Given the description of an element on the screen output the (x, y) to click on. 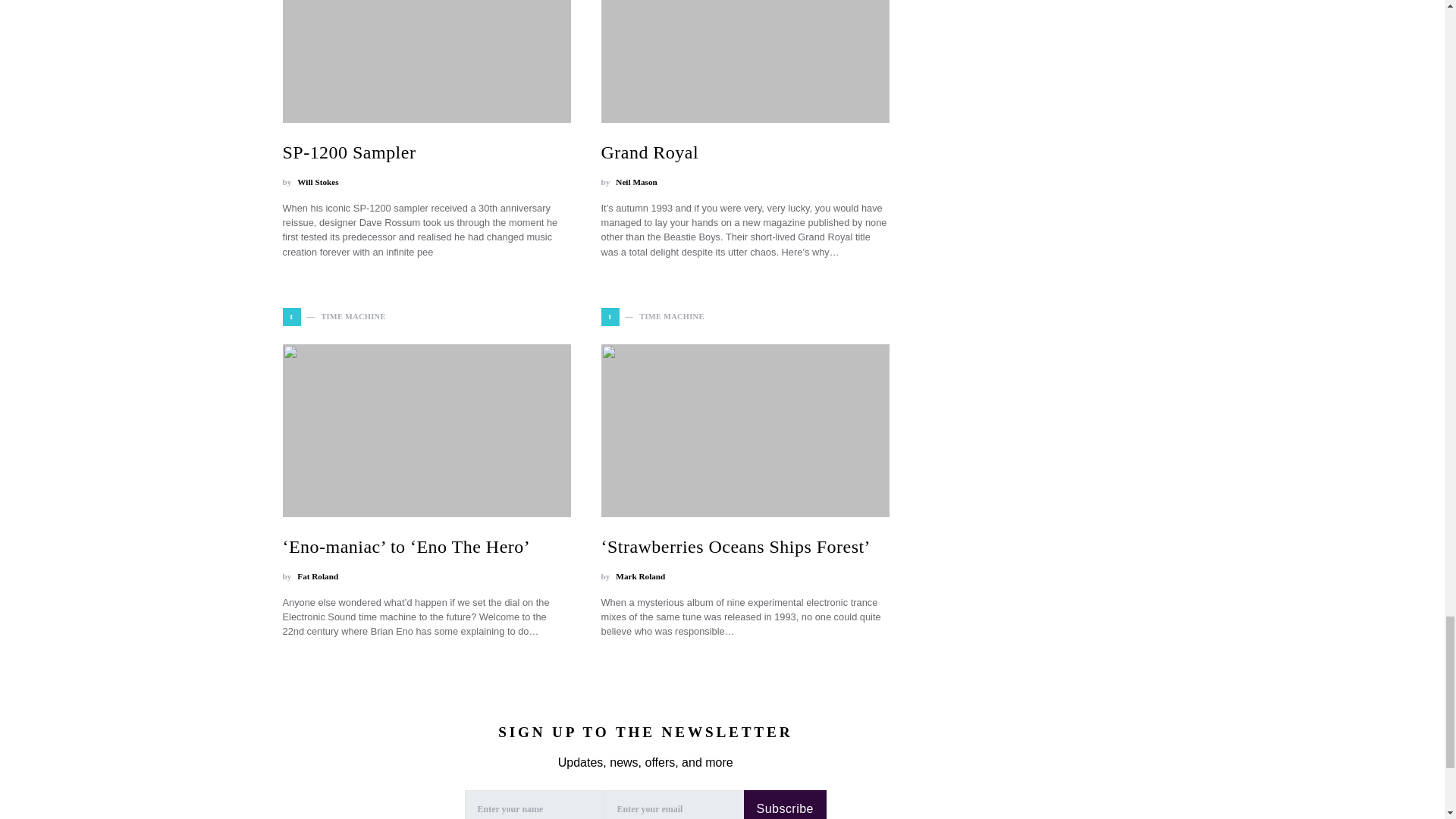
View all posts by Neil Mason (635, 182)
View all posts by Will Stokes (317, 182)
View all posts by Fat Roland (317, 576)
View all posts by Mark Roland (640, 576)
